Given the description of an element on the screen output the (x, y) to click on. 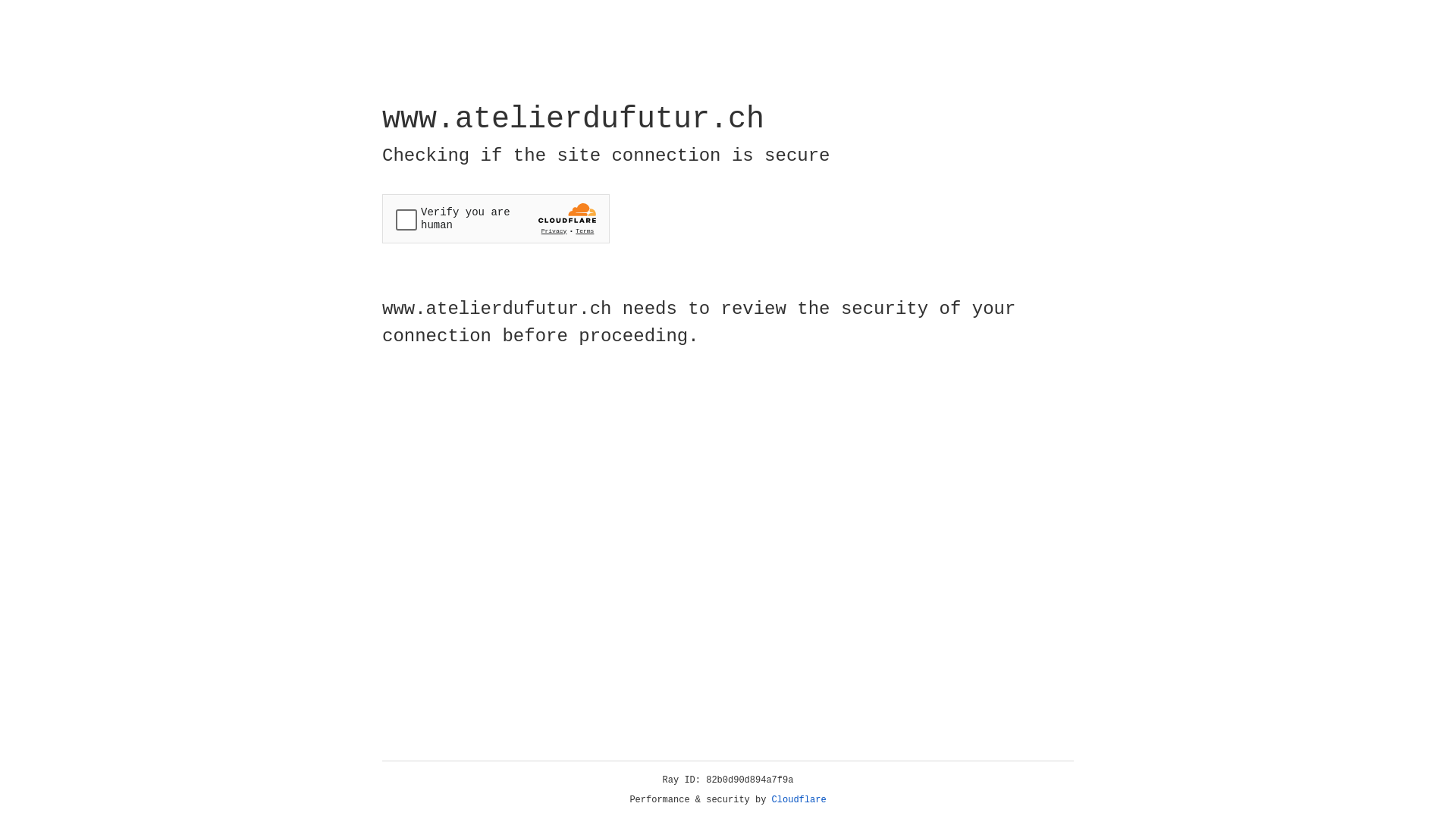
Cloudflare Element type: text (798, 799)
Widget containing a Cloudflare security challenge Element type: hover (495, 218)
